Given the description of an element on the screen output the (x, y) to click on. 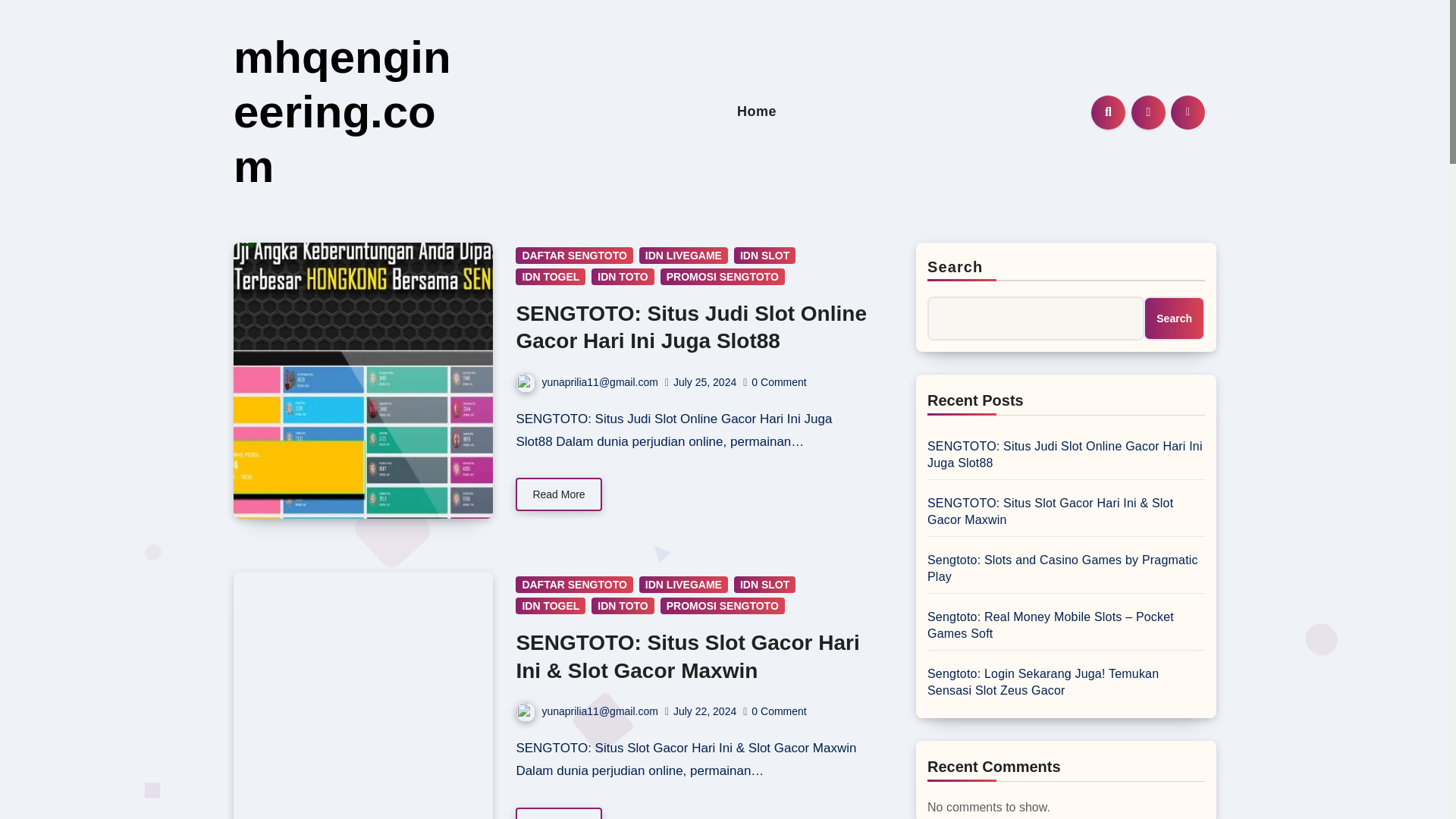
IDN SLOT (763, 255)
DAFTAR SENGTOTO (573, 584)
SENGTOTO: Situs Judi Slot Online Gacor Hari Ini Juga Slot88 (690, 327)
PROMOSI SENGTOTO (722, 605)
Home (756, 111)
IDN TOGEL (550, 276)
mhqengineering.com (341, 111)
IDN TOTO (622, 276)
IDN TOTO (622, 605)
IDN TOGEL (550, 605)
Read More (558, 494)
IDN SLOT (763, 584)
IDN LIVEGAME (683, 255)
July 22, 2024 (704, 711)
July 25, 2024 (704, 381)
